Given the description of an element on the screen output the (x, y) to click on. 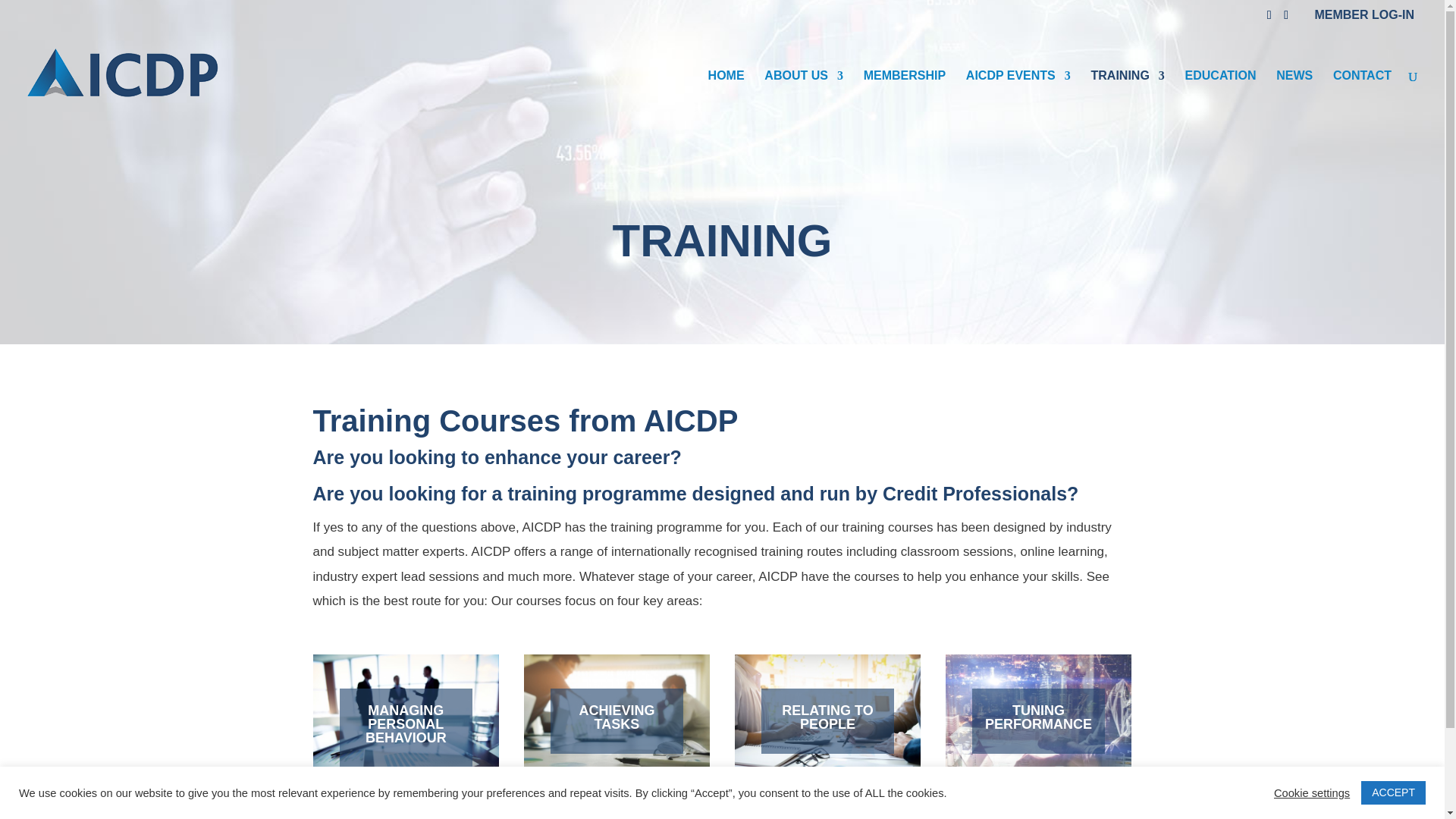
Cookie settings (1311, 792)
ACCEPT (1393, 792)
CONTACT (1362, 95)
AICDP EVENTS (1018, 95)
ABOUT US (803, 95)
MEMBER LOG-IN (1363, 14)
TRAINING (1127, 95)
MEMBERSHIP (903, 95)
EDUCATION (1220, 95)
